Given the description of an element on the screen output the (x, y) to click on. 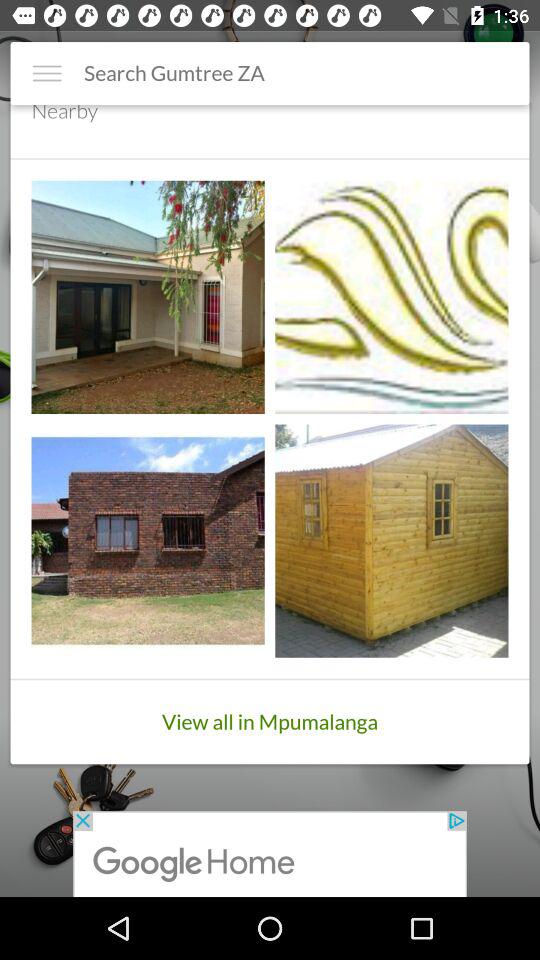
select the text below the images (269, 721)
